Given the description of an element on the screen output the (x, y) to click on. 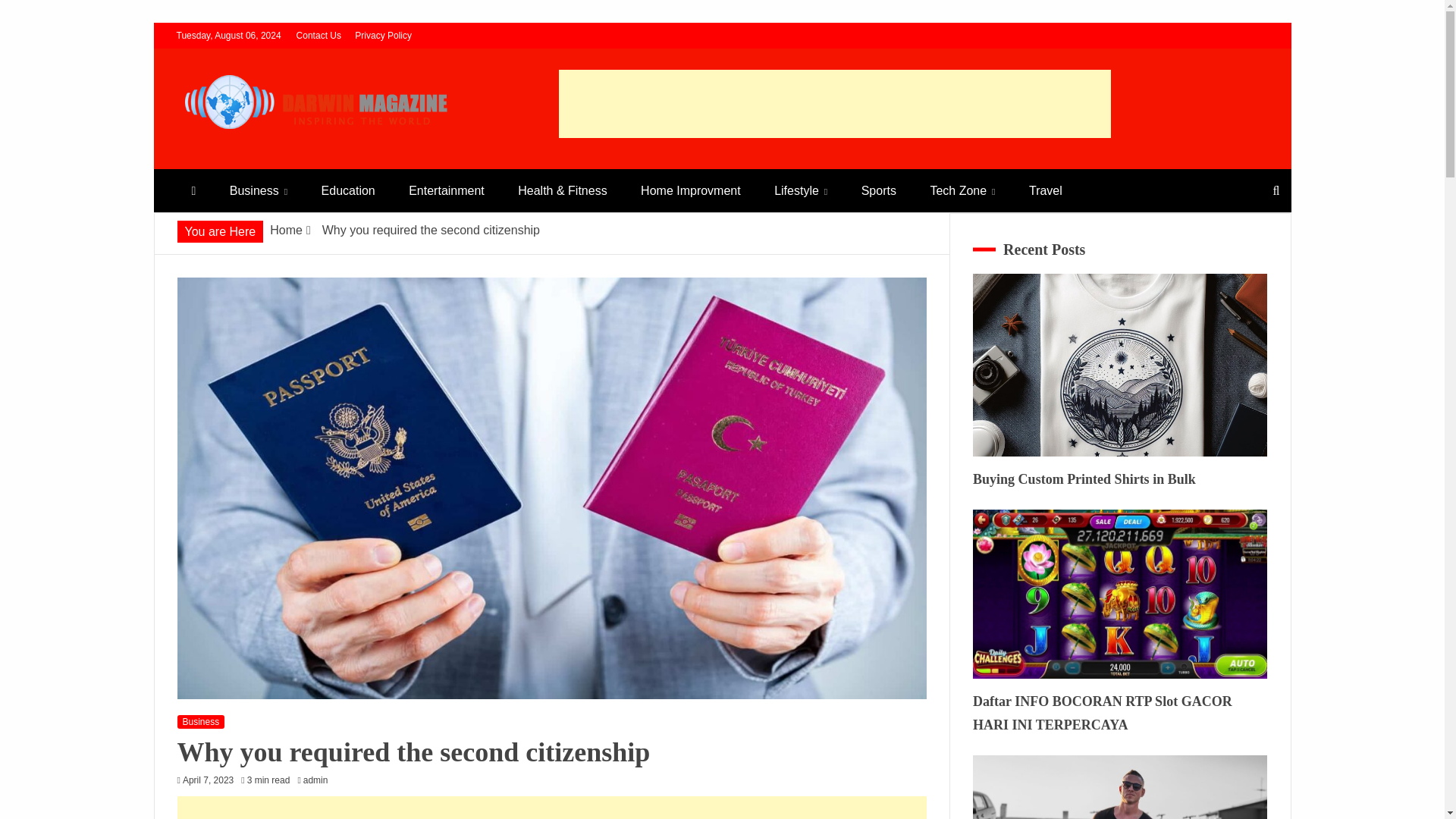
Darwin Magazine (280, 162)
Lifestyle (800, 190)
Home (285, 229)
admin (319, 779)
Business (201, 721)
Search (31, 13)
Contact Us (318, 35)
Home Improvment (690, 190)
Advertisement (833, 103)
Privacy Policy (383, 35)
